Given the description of an element on the screen output the (x, y) to click on. 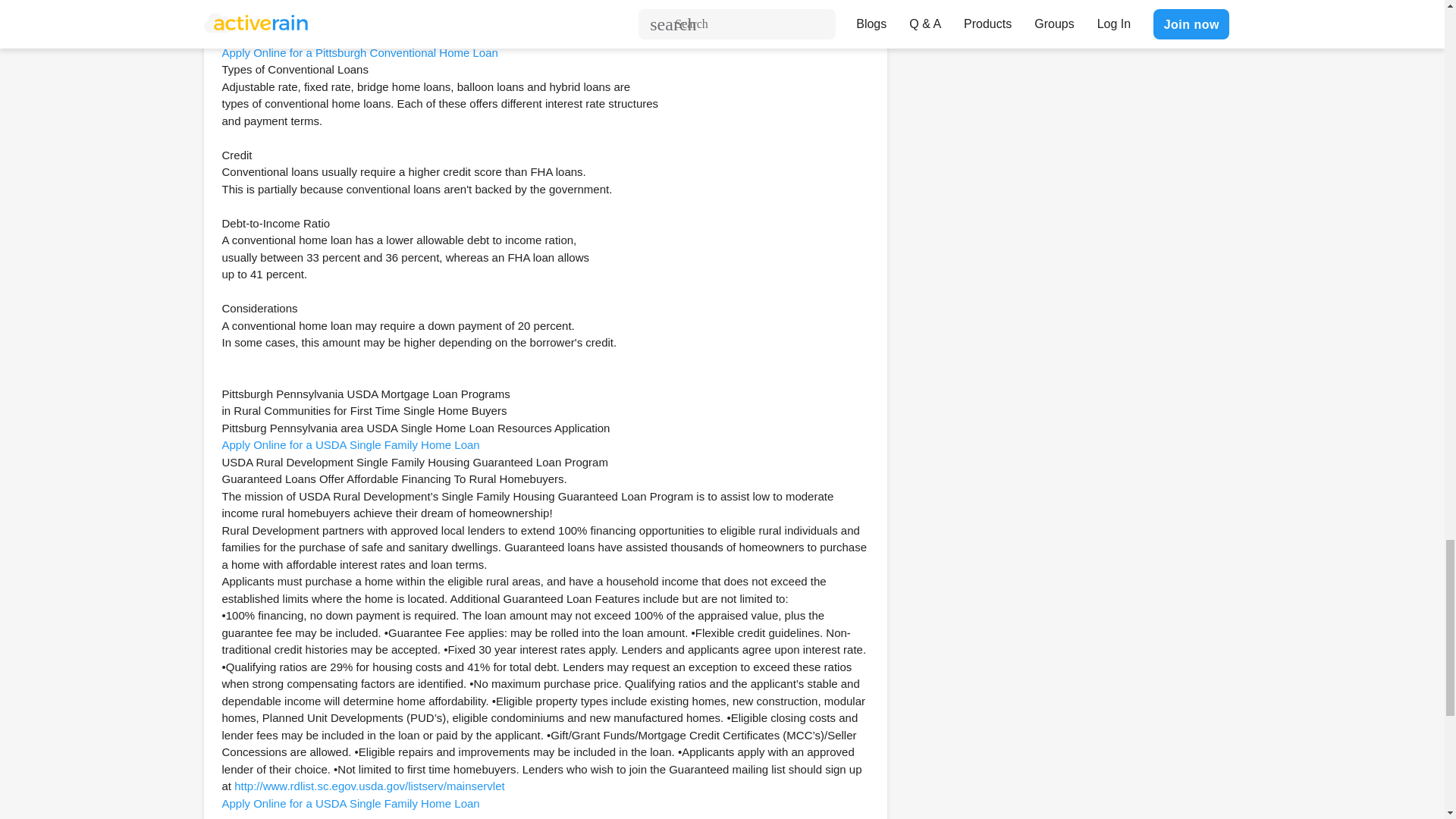
USDA Home Loan Application (359, 51)
USDA Home Loan Application (350, 802)
USDA Home Loan Application (350, 444)
